Given the description of an element on the screen output the (x, y) to click on. 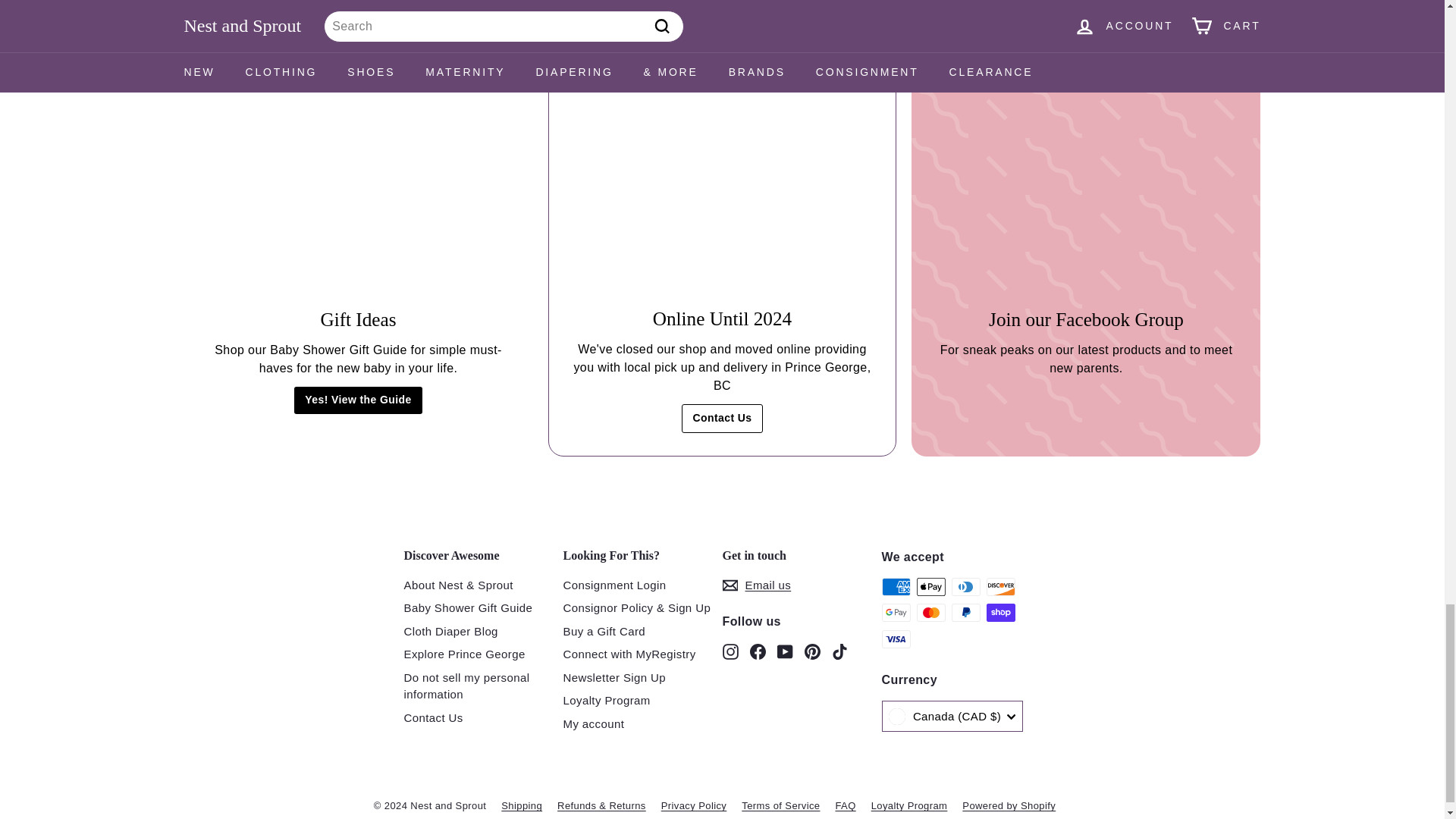
Nest and Sprout on Facebook (757, 651)
Nest and Sprout on Instagram (730, 651)
American Express (895, 587)
